Given the description of an element on the screen output the (x, y) to click on. 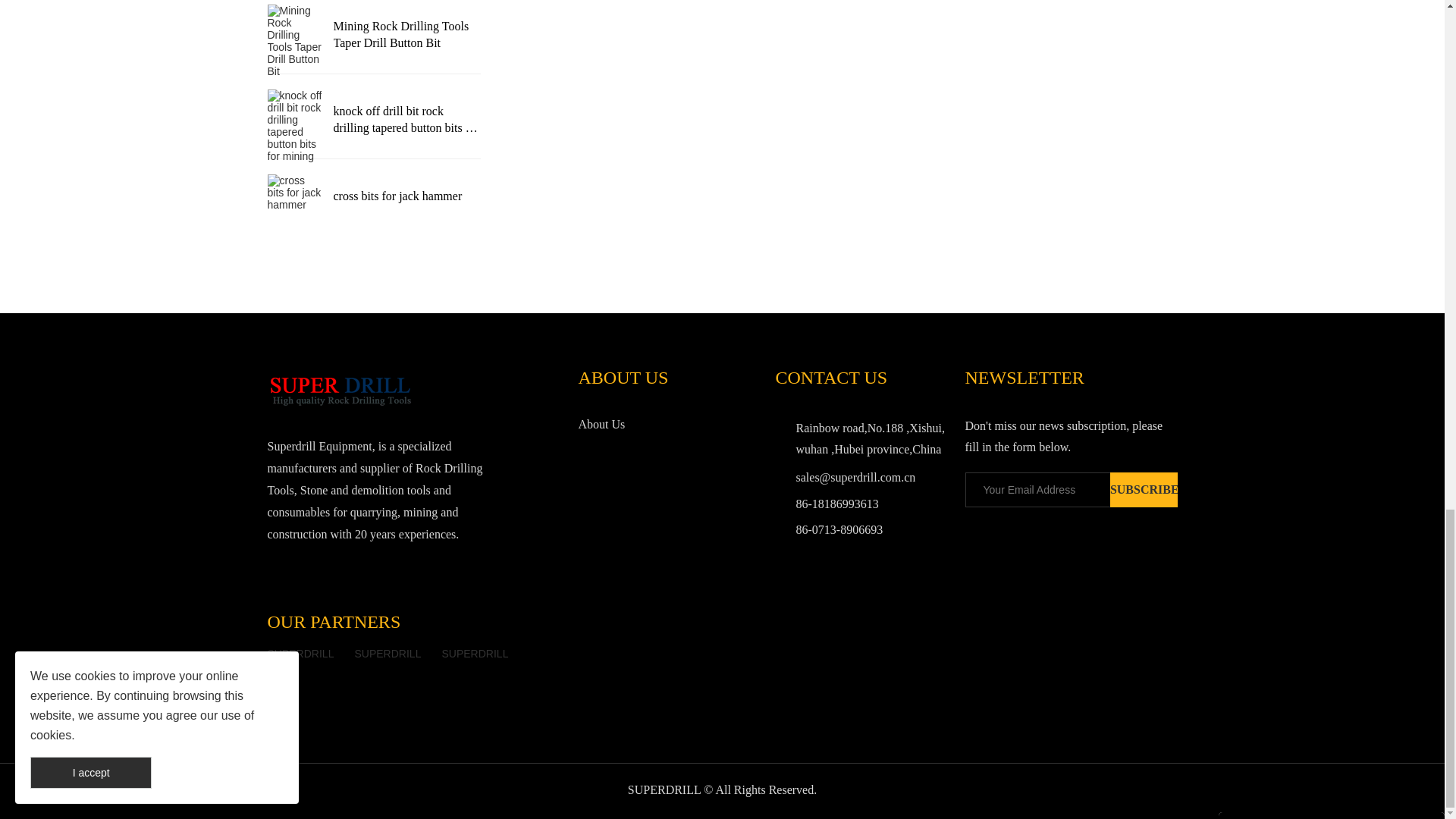
SUBSCRIBE (1143, 489)
